Given the description of an element on the screen output the (x, y) to click on. 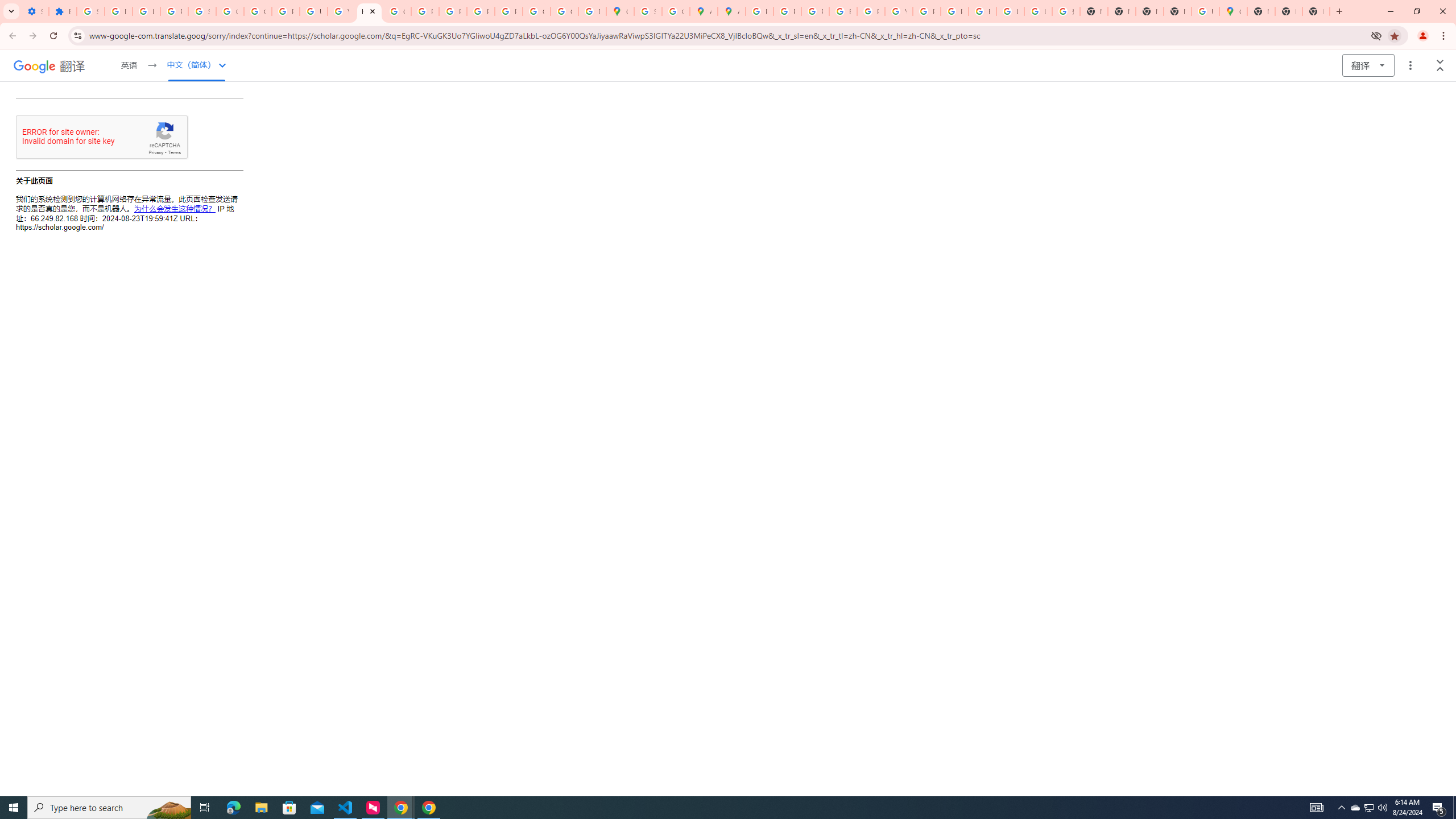
View site information (77, 35)
Sign in - Google Accounts (647, 11)
Browse Chrome as a guest - Computer - Google Chrome Help (982, 11)
https://scholar.google.com/ (369, 11)
